Given the description of an element on the screen output the (x, y) to click on. 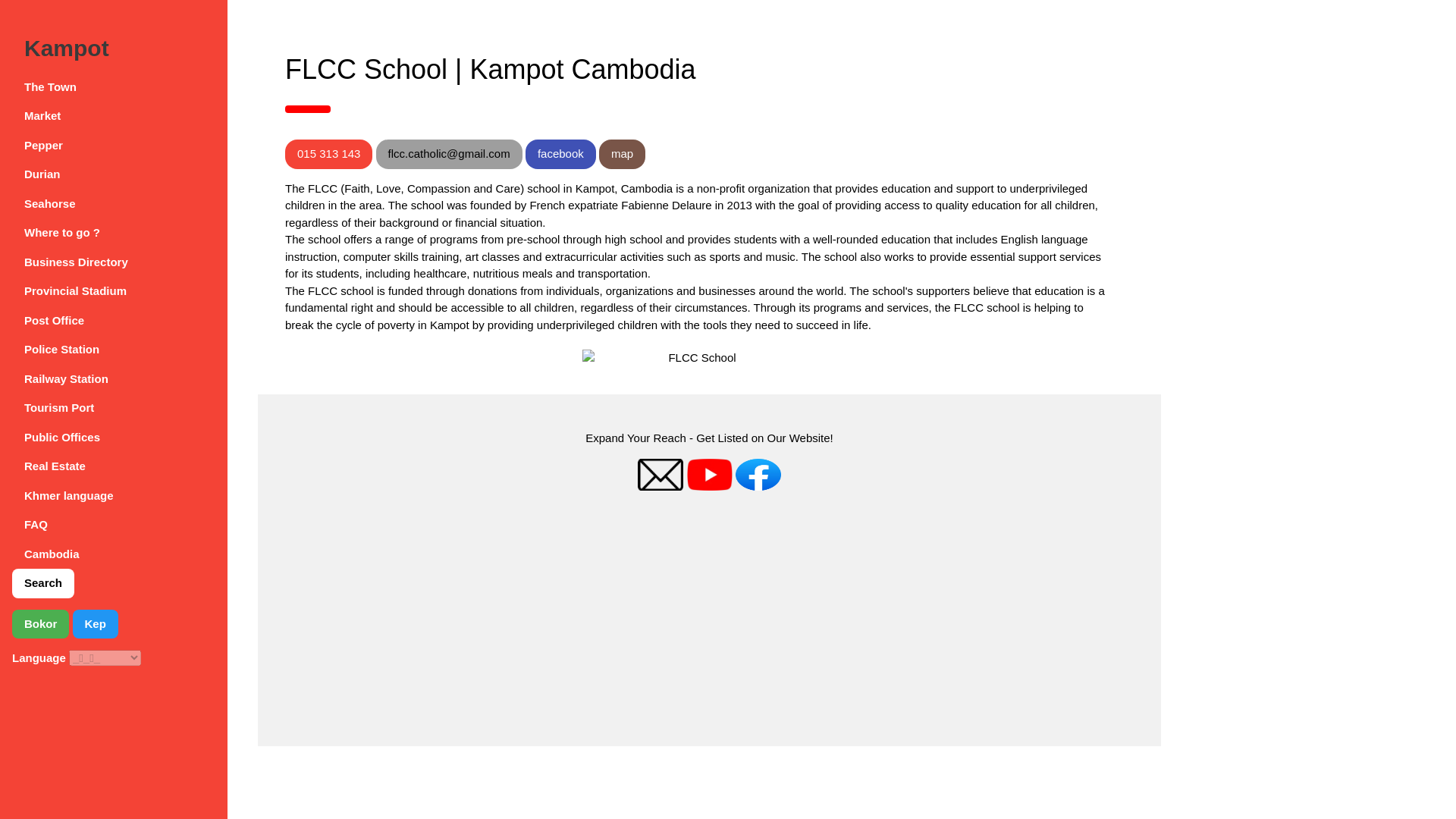
Khmer language (113, 496)
Railway Station (113, 378)
facebook (560, 153)
Search (42, 583)
Market (113, 116)
Durian (113, 174)
Business Directory (113, 262)
Seahorse (113, 204)
FAQ (113, 524)
Kep (94, 624)
Bokor (39, 624)
Pepper (113, 145)
map (621, 153)
015 313 143 (328, 153)
Public Offices (113, 437)
